Given the description of an element on the screen output the (x, y) to click on. 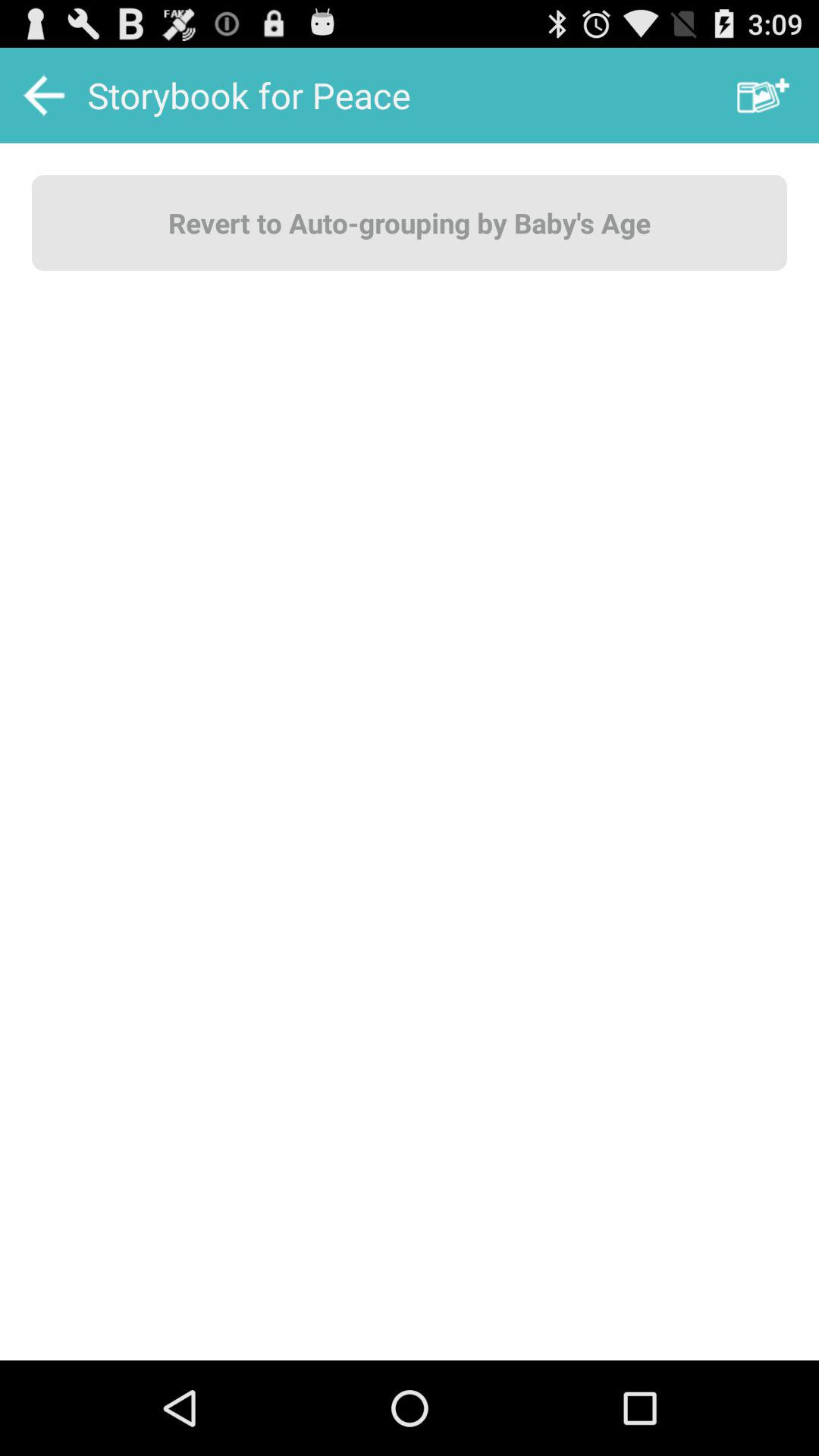
choose revert to auto (409, 222)
